Given the description of an element on the screen output the (x, y) to click on. 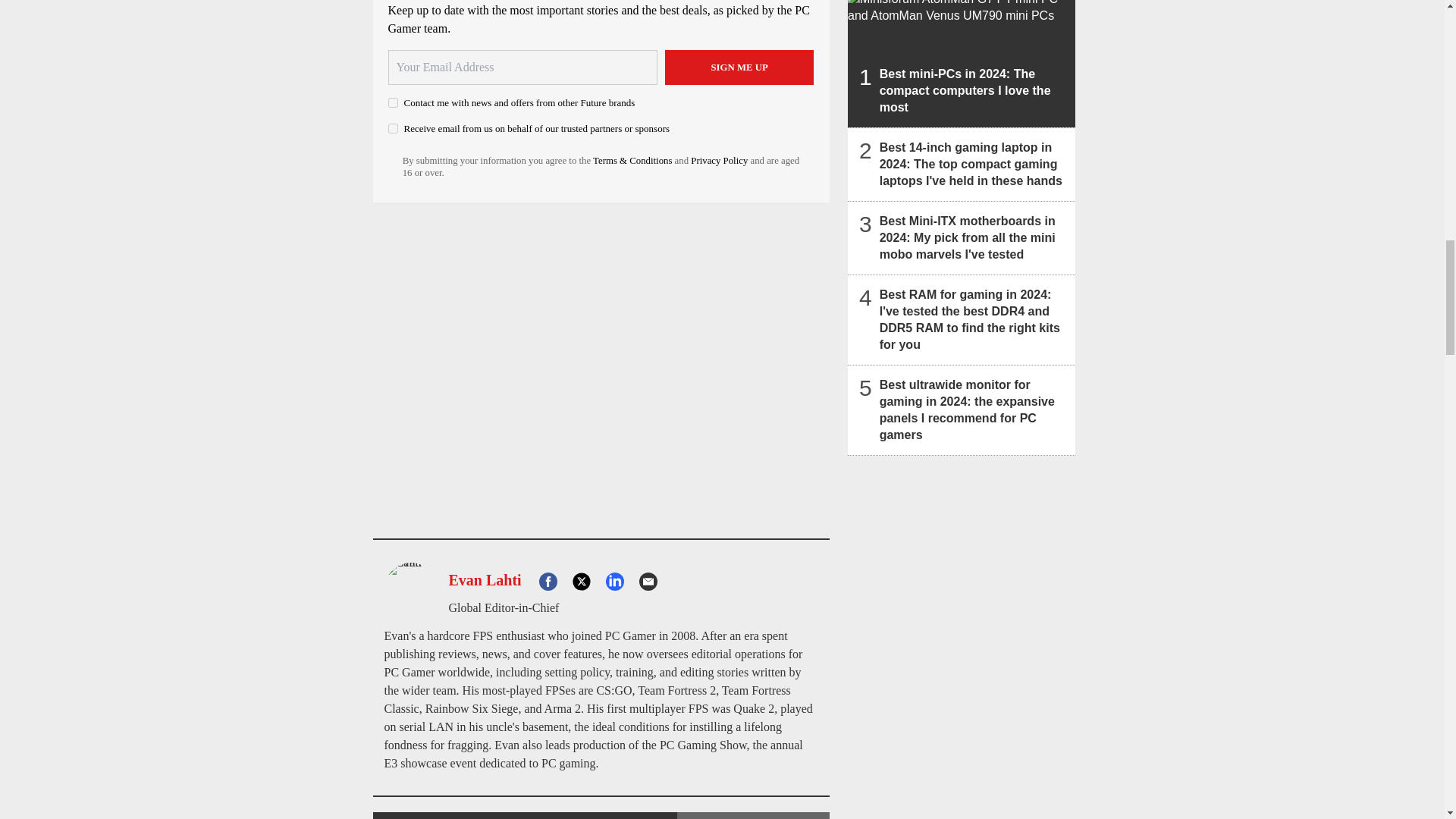
Sign me up (739, 67)
on (392, 102)
on (392, 128)
